Given the description of an element on the screen output the (x, y) to click on. 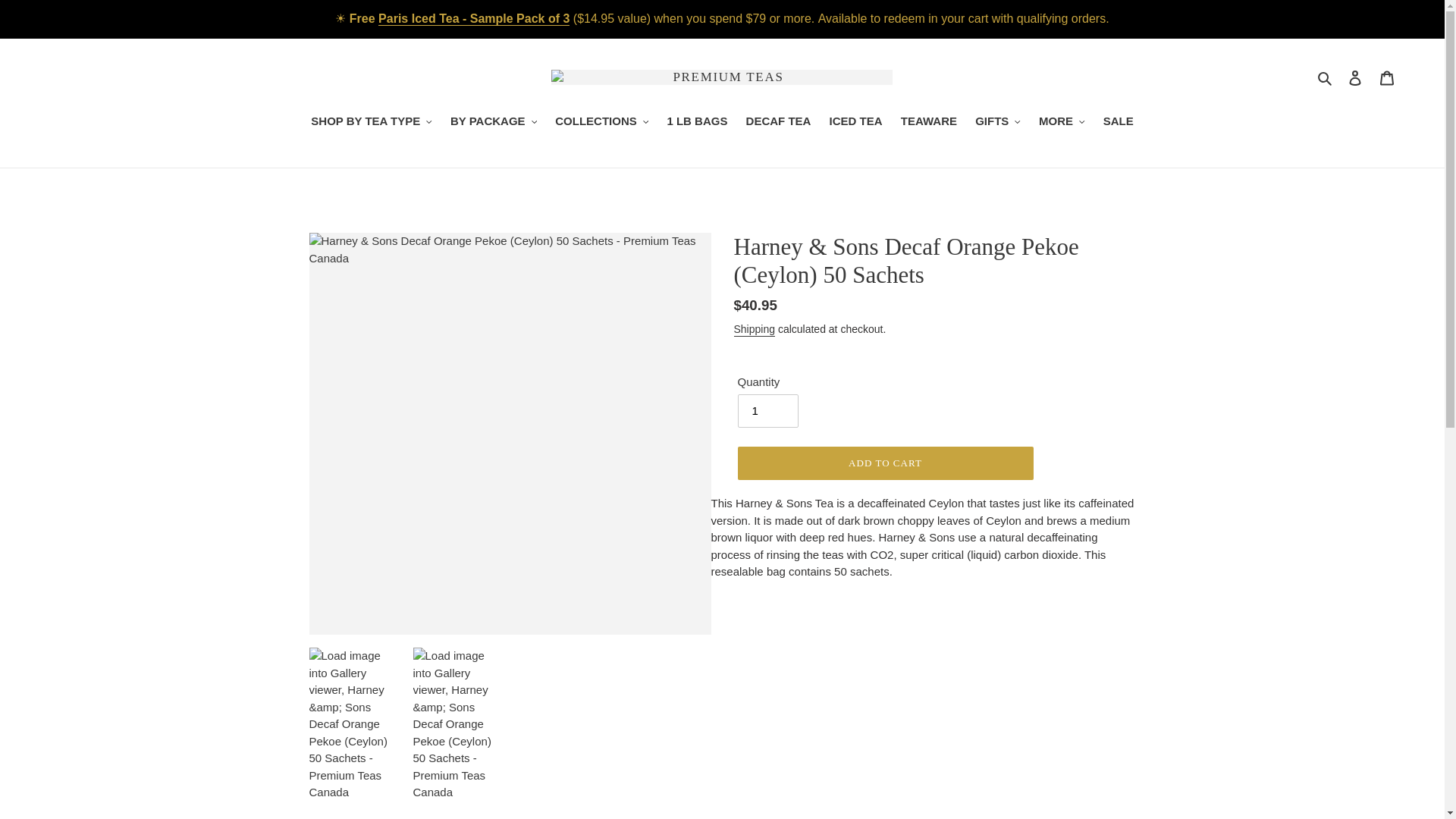
Search (1326, 76)
Log in (1355, 77)
Cart (1387, 77)
Paris Iced Tea - Sample Pack of 3 (473, 18)
1 (766, 410)
